Given the description of an element on the screen output the (x, y) to click on. 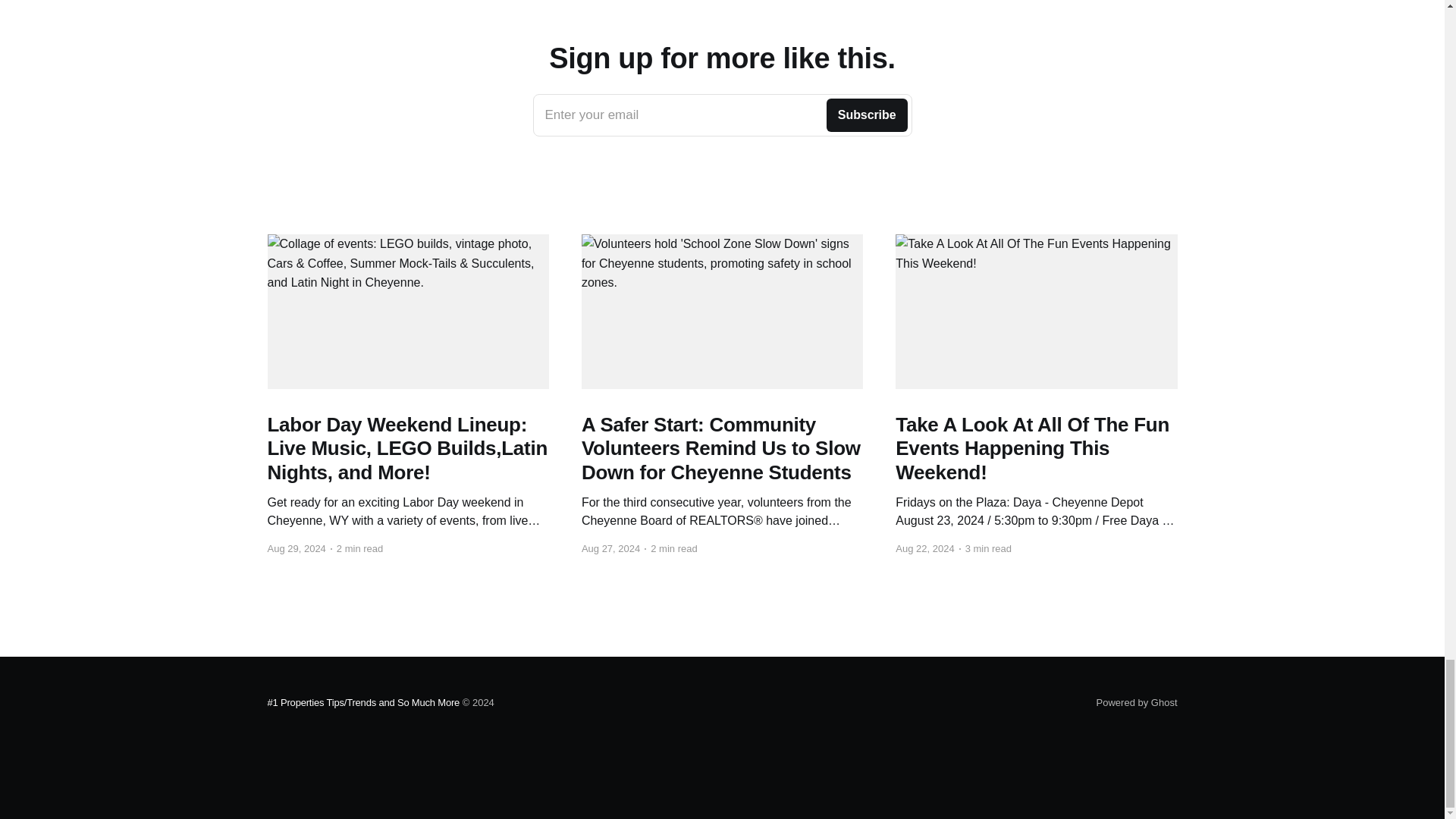
Powered by Ghost (1136, 702)
